Given the description of an element on the screen output the (x, y) to click on. 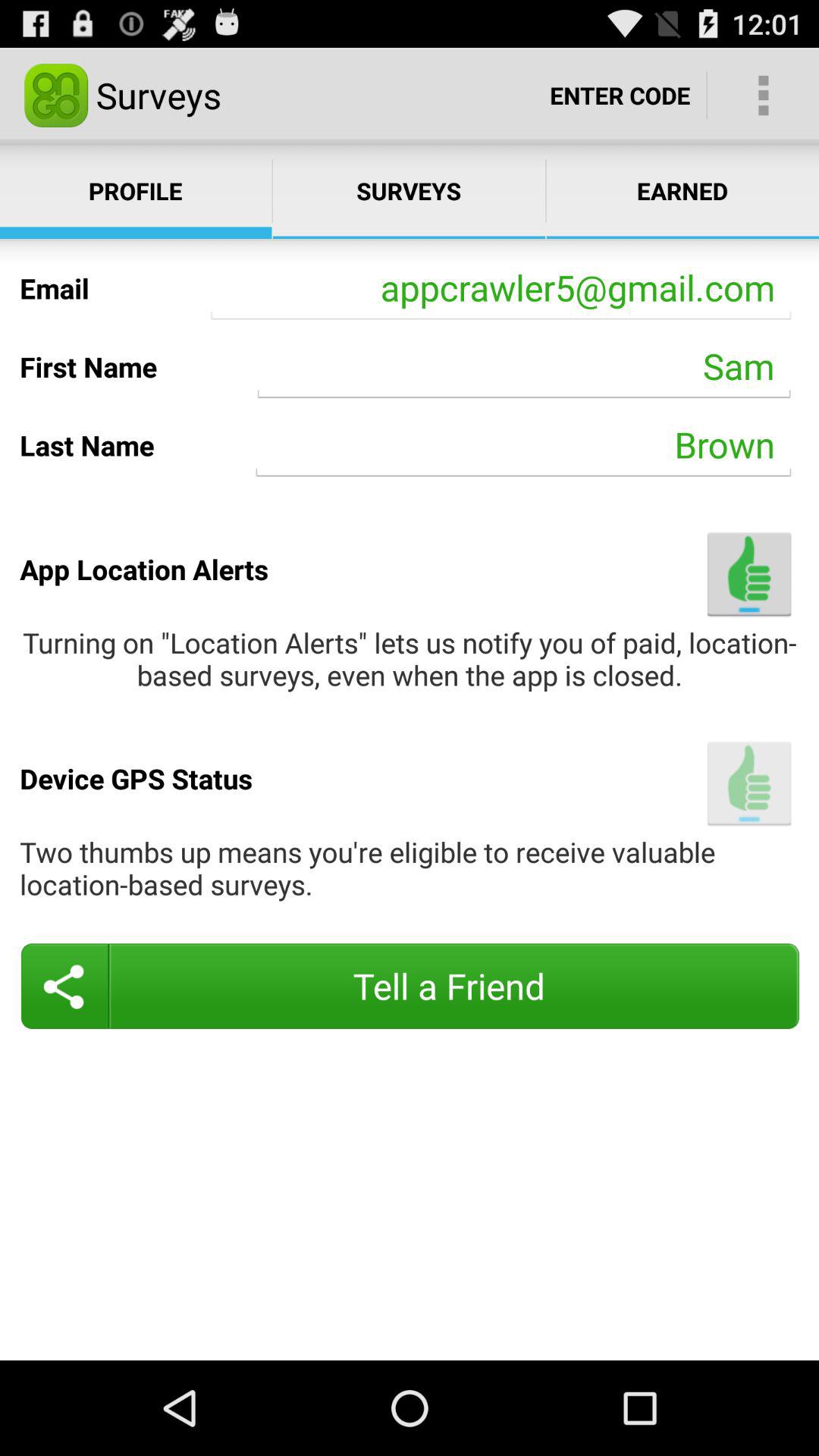
turn on app location alerts (749, 573)
